Given the description of an element on the screen output the (x, y) to click on. 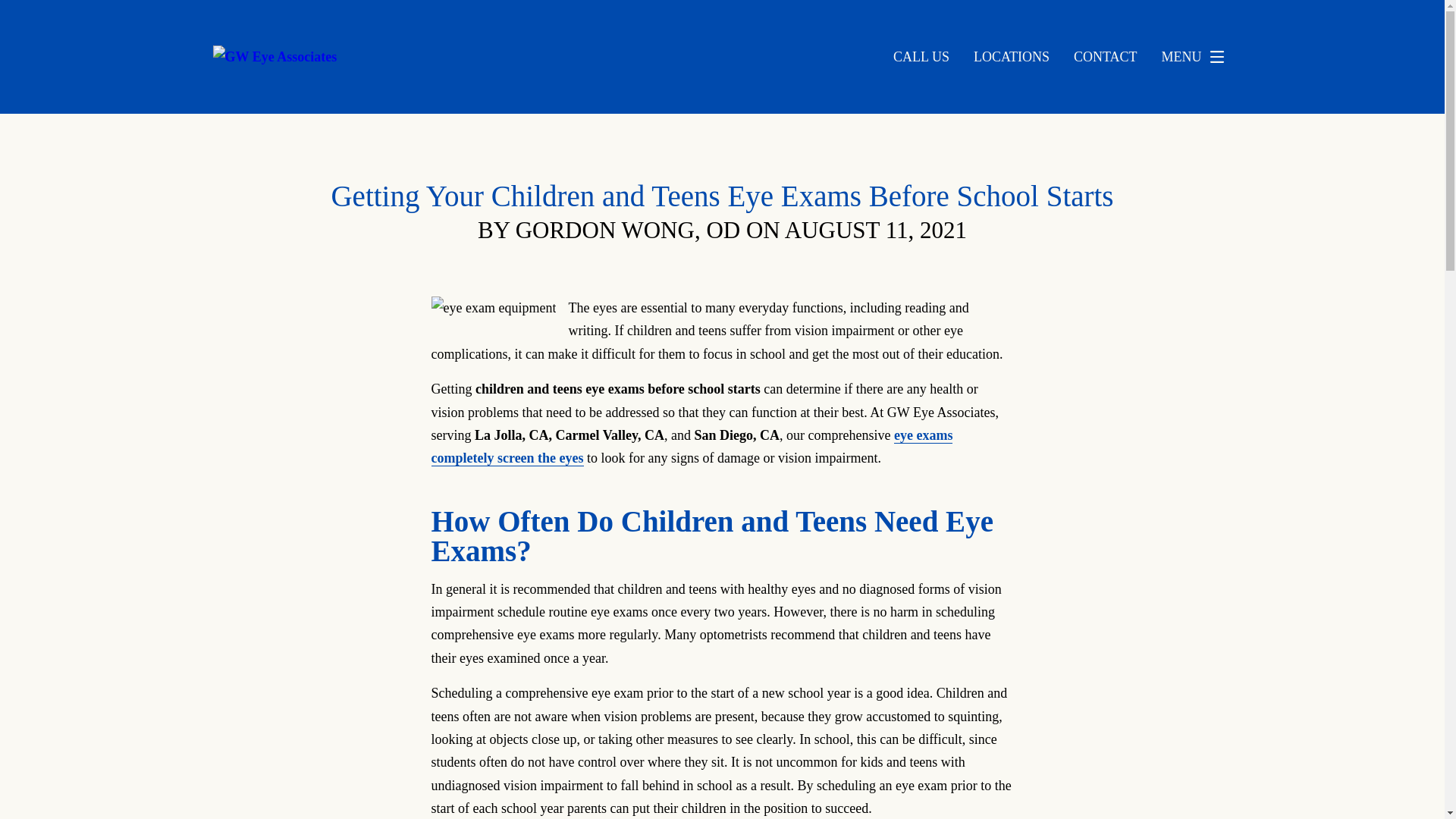
MENU (1196, 56)
CALL US (921, 56)
eye exams completely screen the eyes (691, 446)
CONTACT (1105, 56)
LOCATIONS (1011, 56)
